Given the description of an element on the screen output the (x, y) to click on. 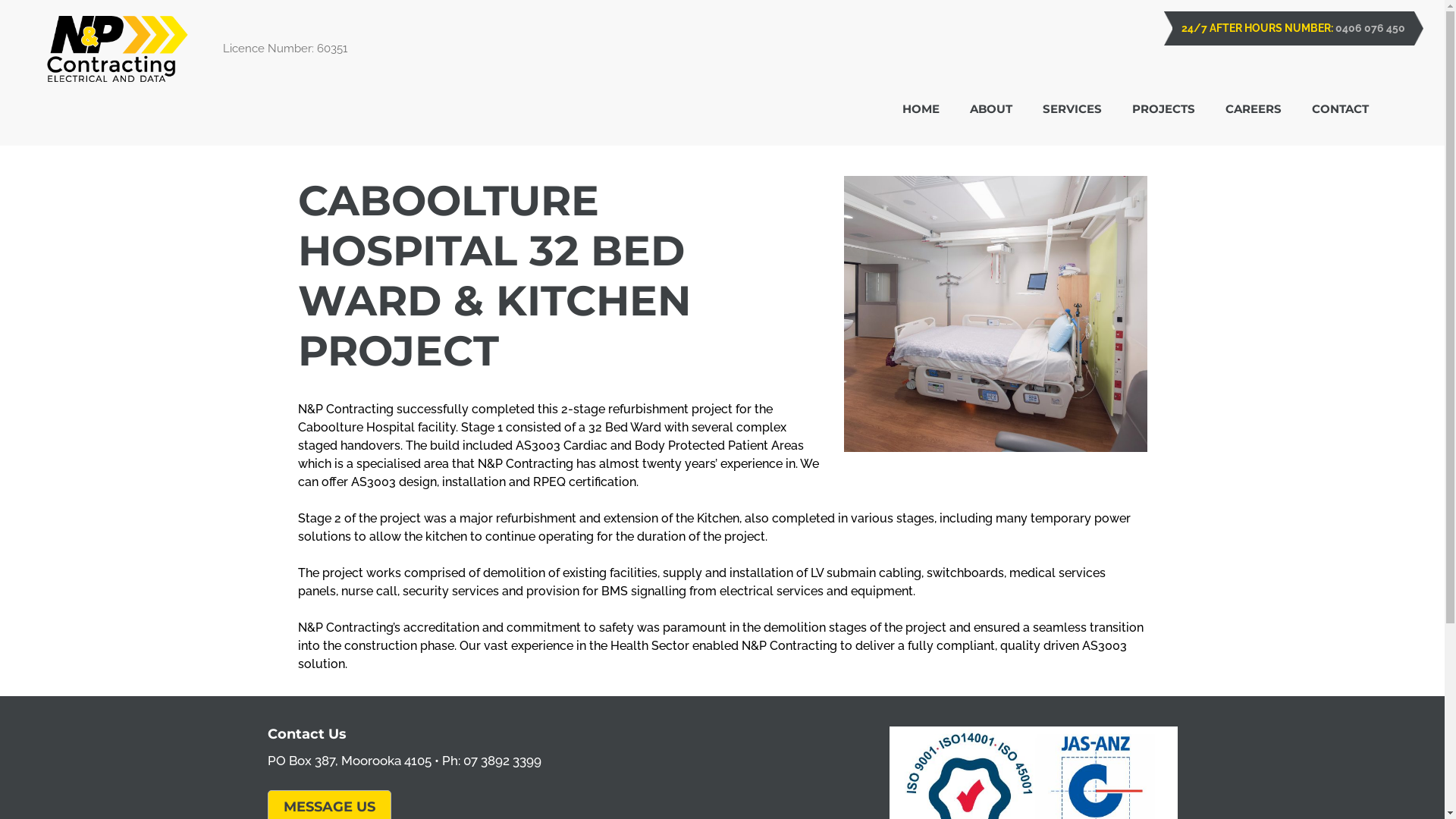
0406 076 450 Element type: text (1370, 27)
CONTACT Element type: text (1339, 110)
CAREERS Element type: text (1253, 110)
HOME Element type: text (920, 110)
PROJECTS Element type: text (1163, 110)
ABOUT Element type: text (990, 110)
SERVICES Element type: text (1072, 110)
